Given the description of an element on the screen output the (x, y) to click on. 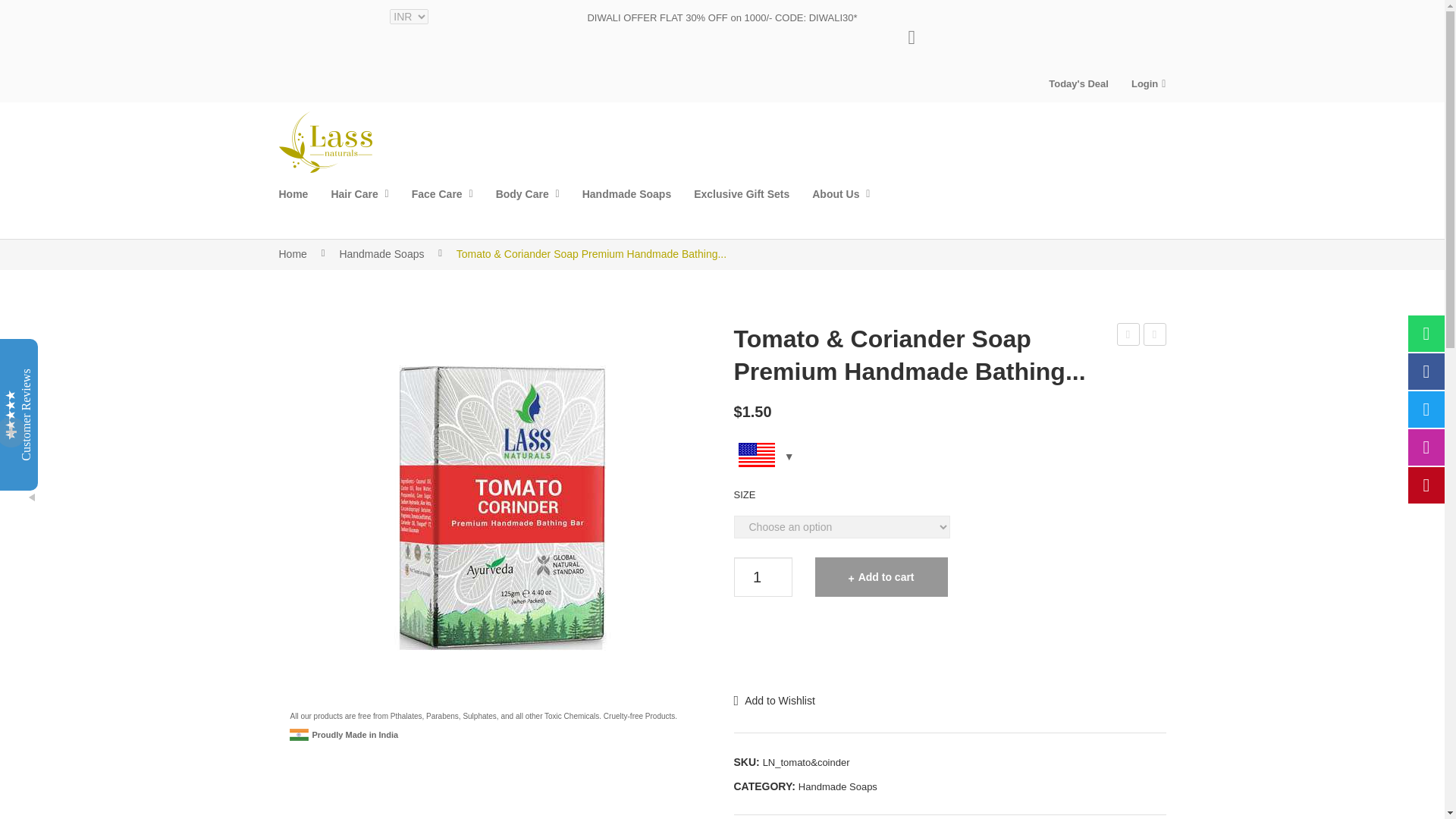
tomato-soap (530, 506)
Today's Deal (1078, 83)
Please select your currency (949, 460)
PayPal (949, 646)
1 (761, 576)
